Given the description of an element on the screen output the (x, y) to click on. 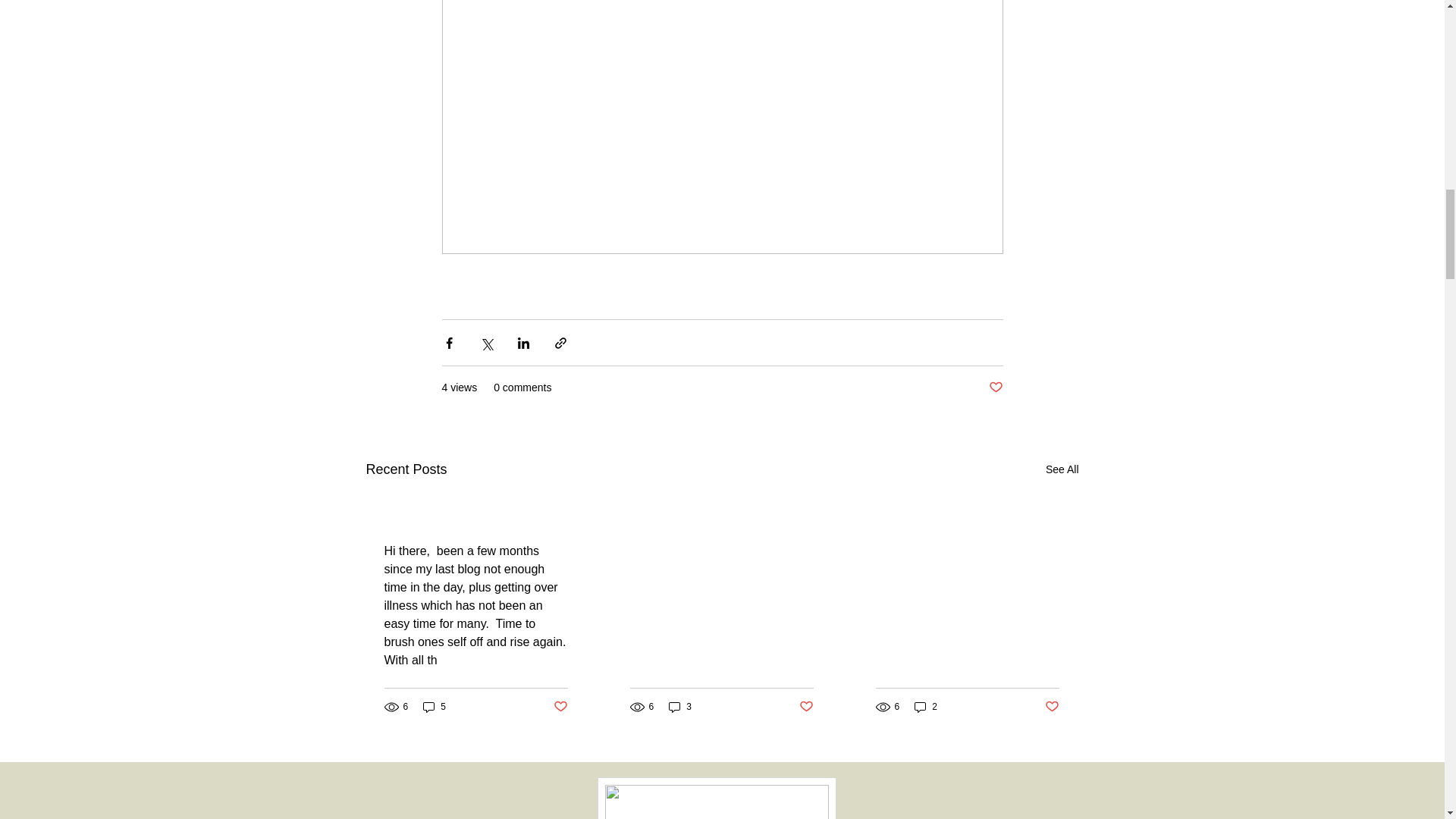
Chelsea in Bloom floral Animals May 2017 (966, 653)
Halloween 2017 (475, 521)
Chelsea in bloom floral Animal photograph (720, 653)
Post not marked as liked (1052, 706)
Post not marked as liked (560, 706)
3 (679, 707)
See All (1061, 469)
Post not marked as liked (806, 706)
5 (434, 707)
2 (925, 707)
Post not marked as liked (995, 387)
